Given the description of an element on the screen output the (x, y) to click on. 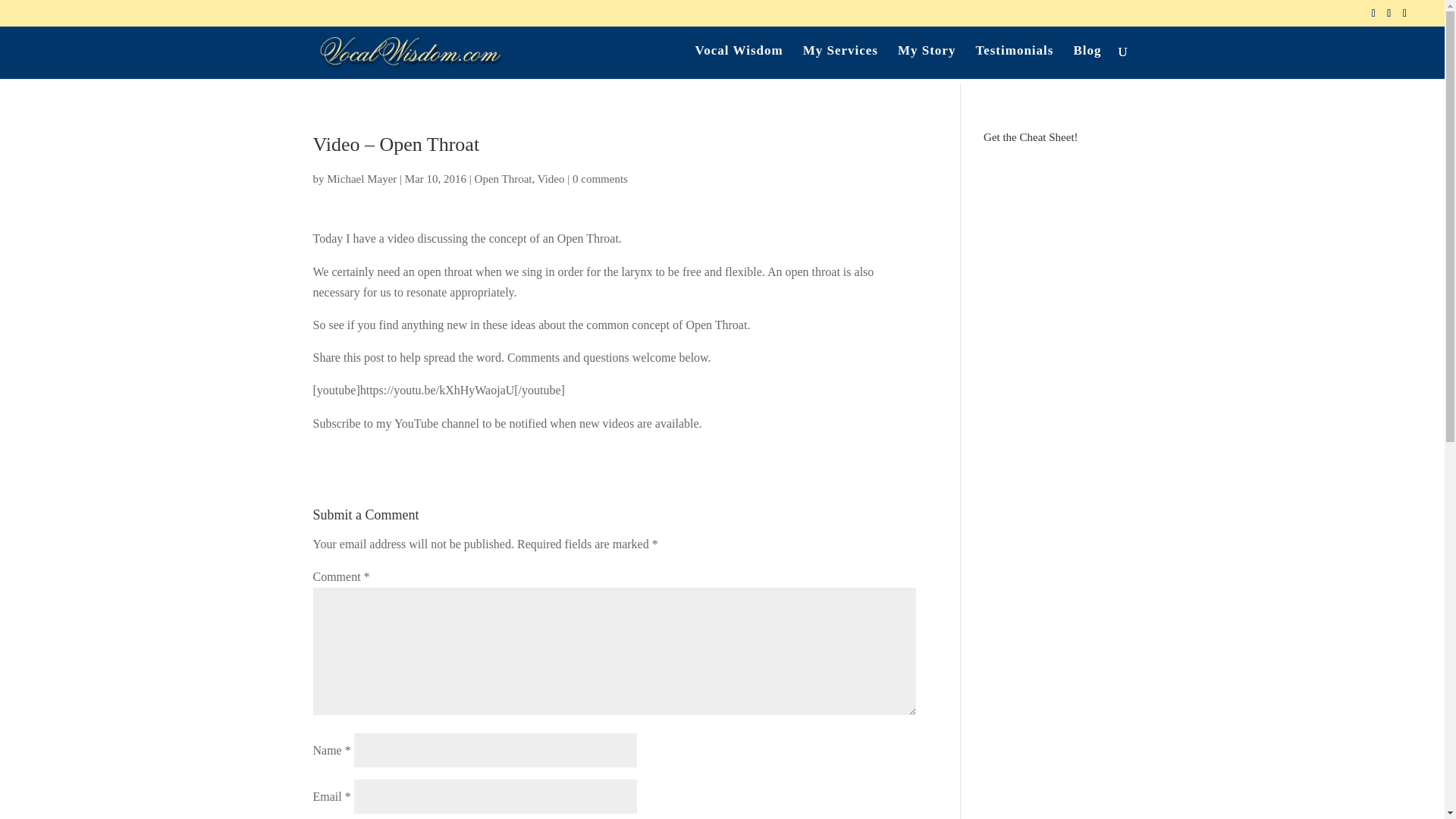
Posts by Michael Mayer (361, 178)
My Story (926, 61)
Vocal Wisdom (739, 61)
Testimonials (1013, 61)
Video (550, 178)
Open Throat (503, 178)
Blog (1086, 61)
0 comments (599, 178)
My Services (840, 61)
Michael Mayer (361, 178)
